Given the description of an element on the screen output the (x, y) to click on. 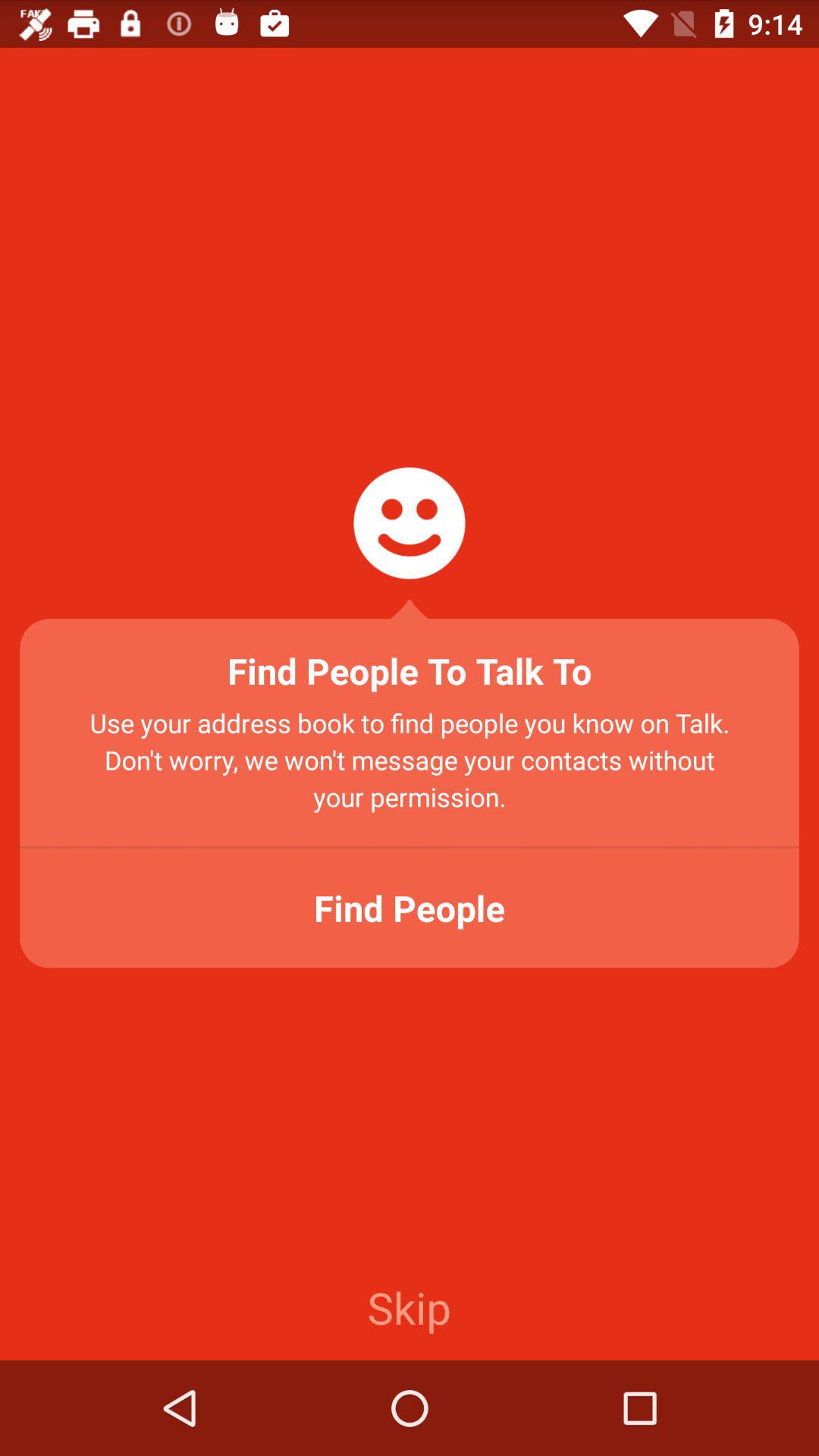
press icon below the find people (409, 1306)
